Given the description of an element on the screen output the (x, y) to click on. 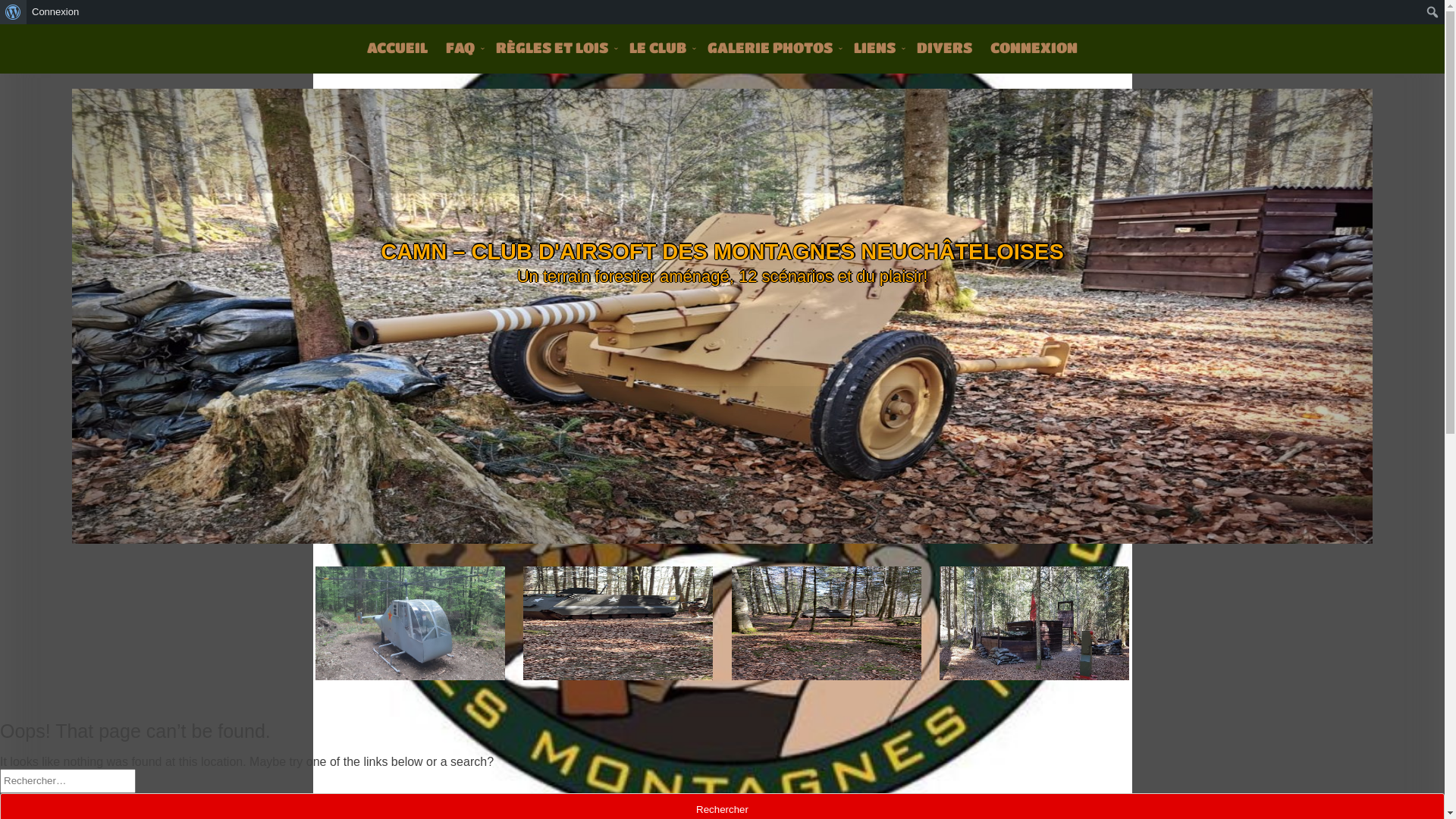
FAQ Element type: text (461, 47)
DIVERS Element type: text (944, 47)
ACCUEIL Element type: text (396, 47)
Rechercher Element type: text (26, 12)
LIENS Element type: text (875, 47)
CONNEXION Element type: text (1033, 47)
LE CLUB Element type: text (659, 47)
Connexion Element type: text (55, 12)
GALERIE PHOTOS Element type: text (771, 47)
